Given the description of an element on the screen output the (x, y) to click on. 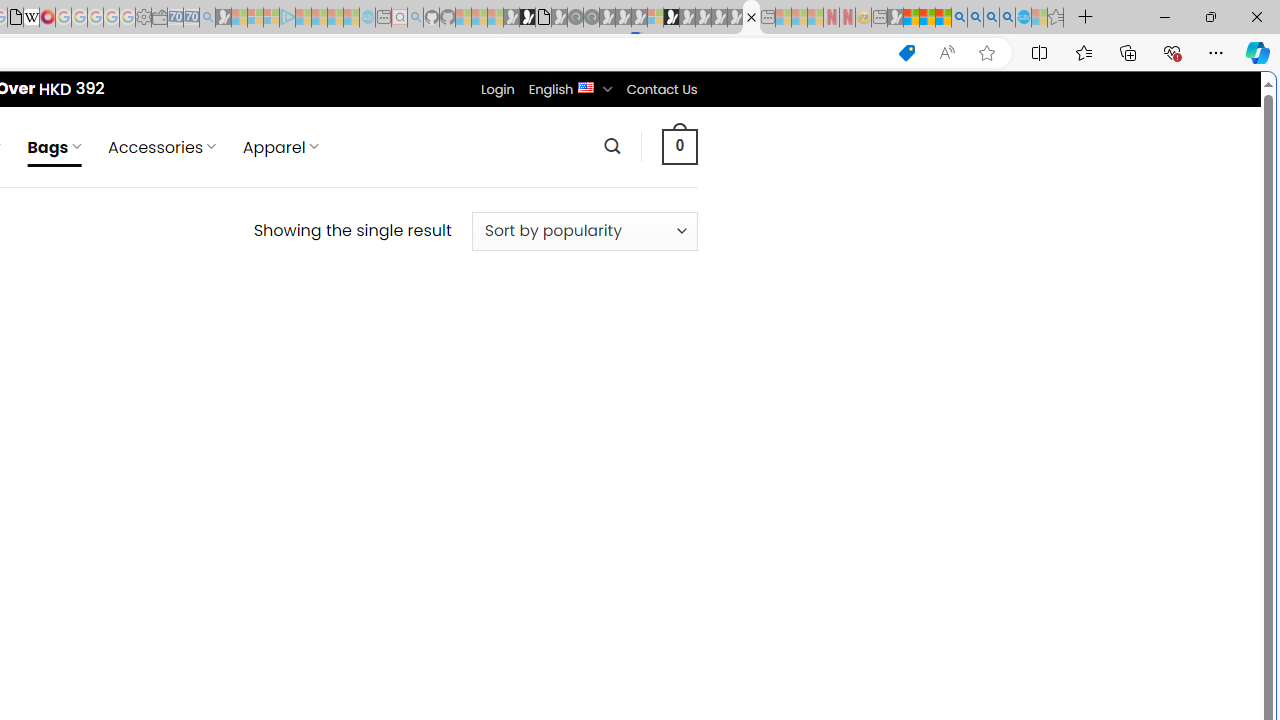
Microsoft Start - Sleeping (335, 17)
Cheap Car Rentals - Save70.com - Sleeping (191, 17)
Bing Real Estate - Home sales and rental listings - Sleeping (207, 17)
Services - Maintenance | Sky Blue Bikes - Sky Blue Bikes (1023, 17)
Nordace - Cooler Bags (751, 17)
